Given the description of an element on the screen output the (x, y) to click on. 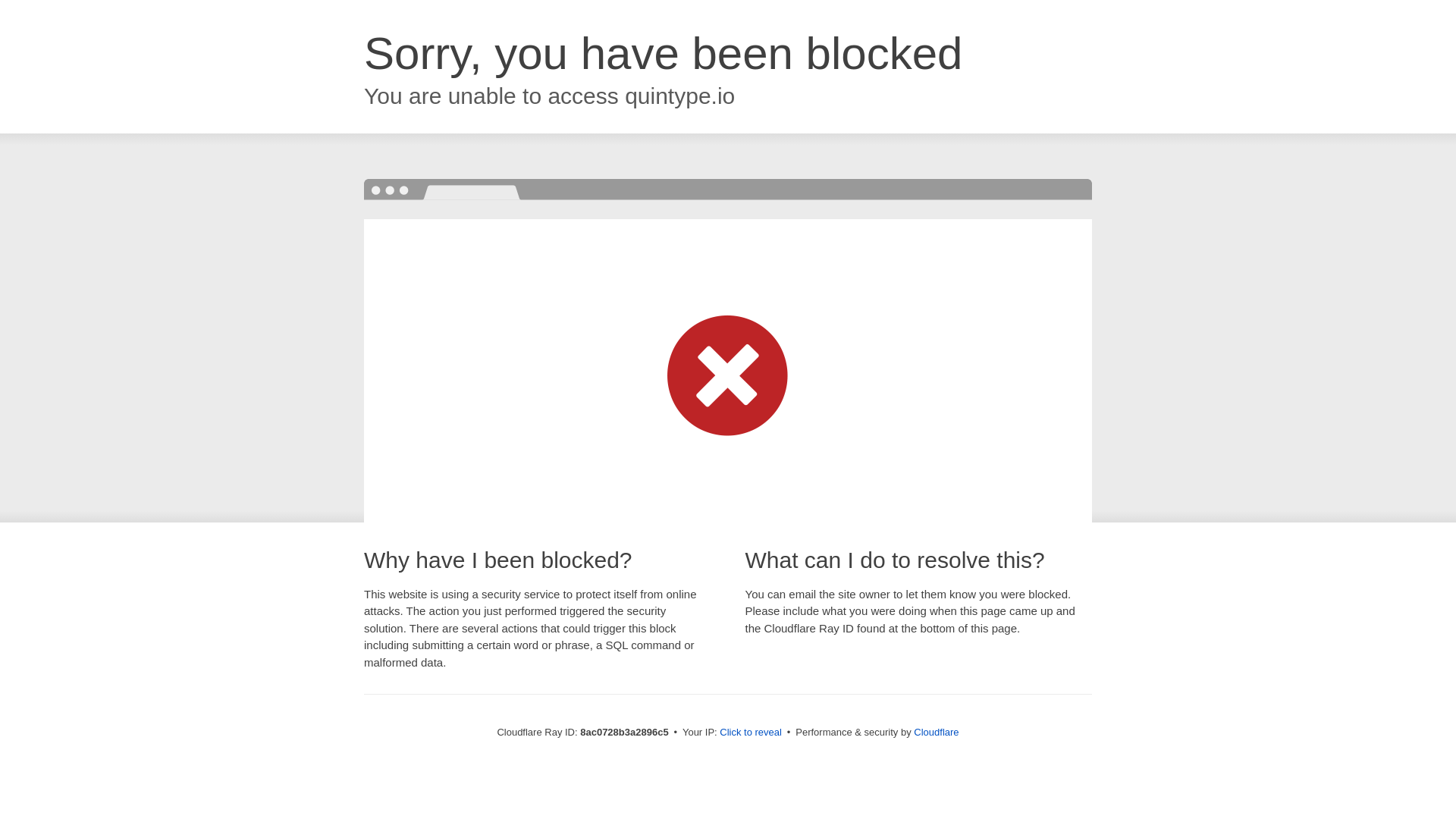
Click to reveal (750, 732)
Cloudflare (936, 731)
